Given the description of an element on the screen output the (x, y) to click on. 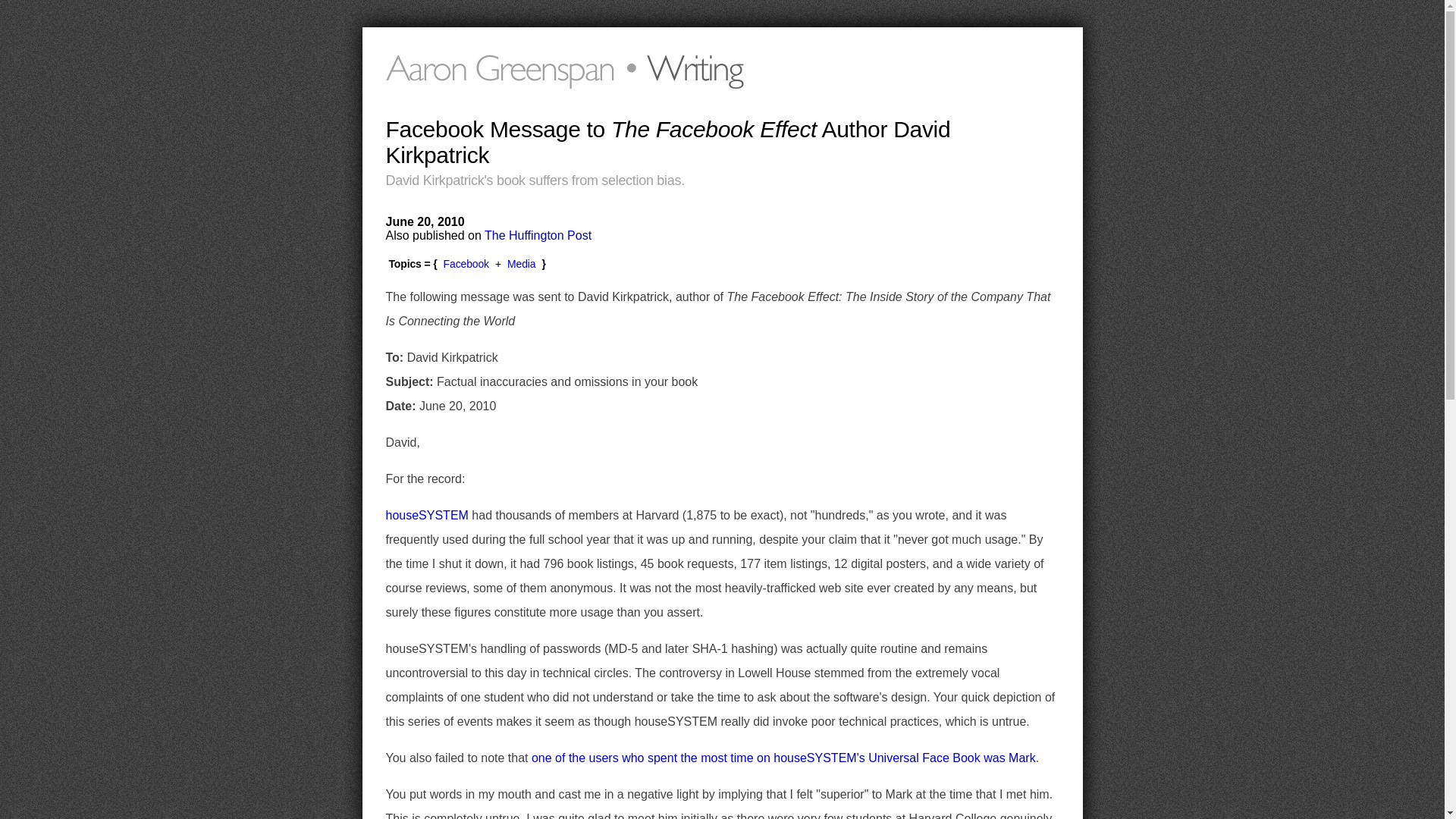
Media (520, 263)
Facebook (466, 263)
houseSYSTEM (426, 514)
The Huffington Post (537, 235)
